Given the description of an element on the screen output the (x, y) to click on. 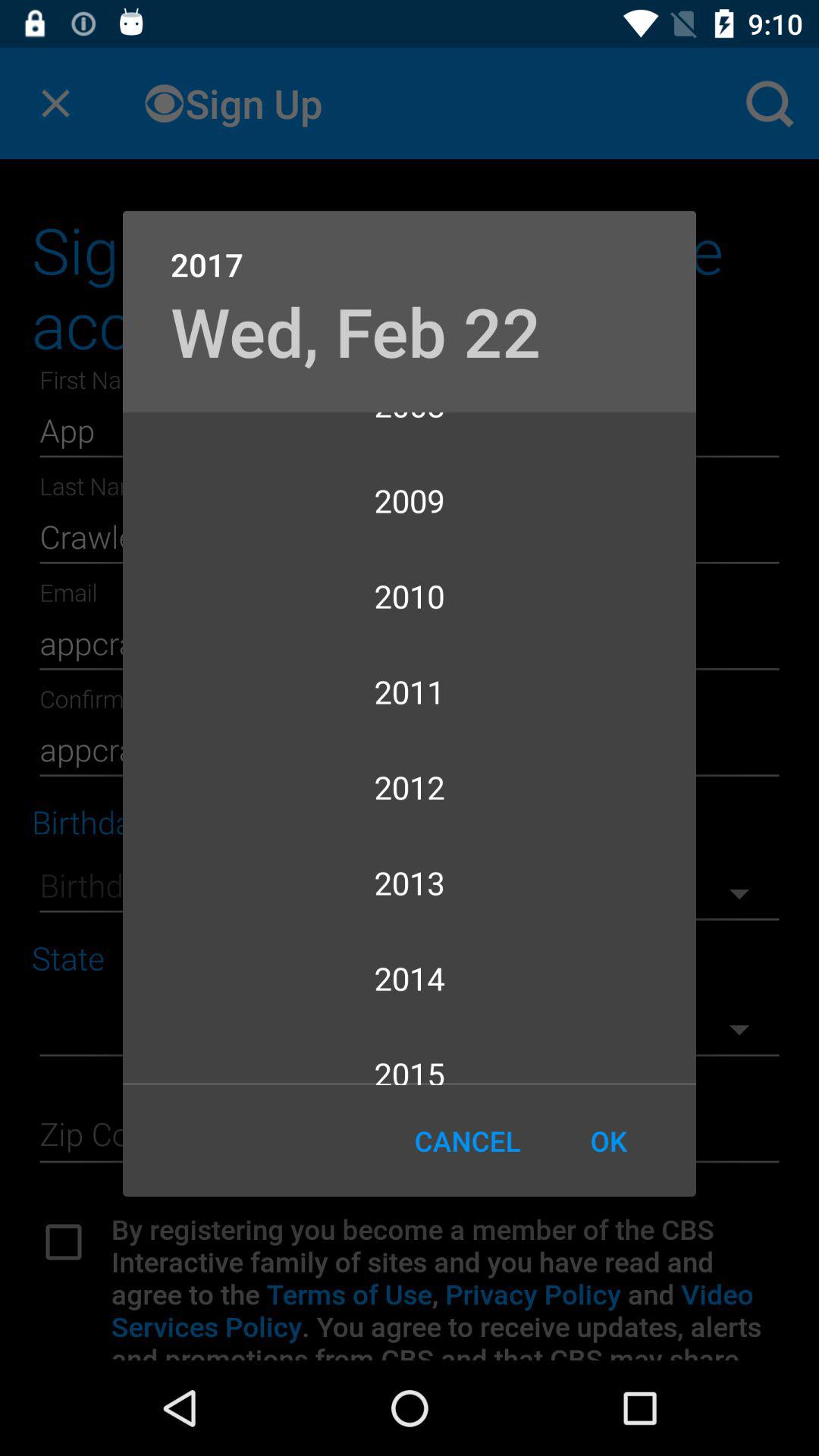
click item below 2015 item (608, 1140)
